Given the description of an element on the screen output the (x, y) to click on. 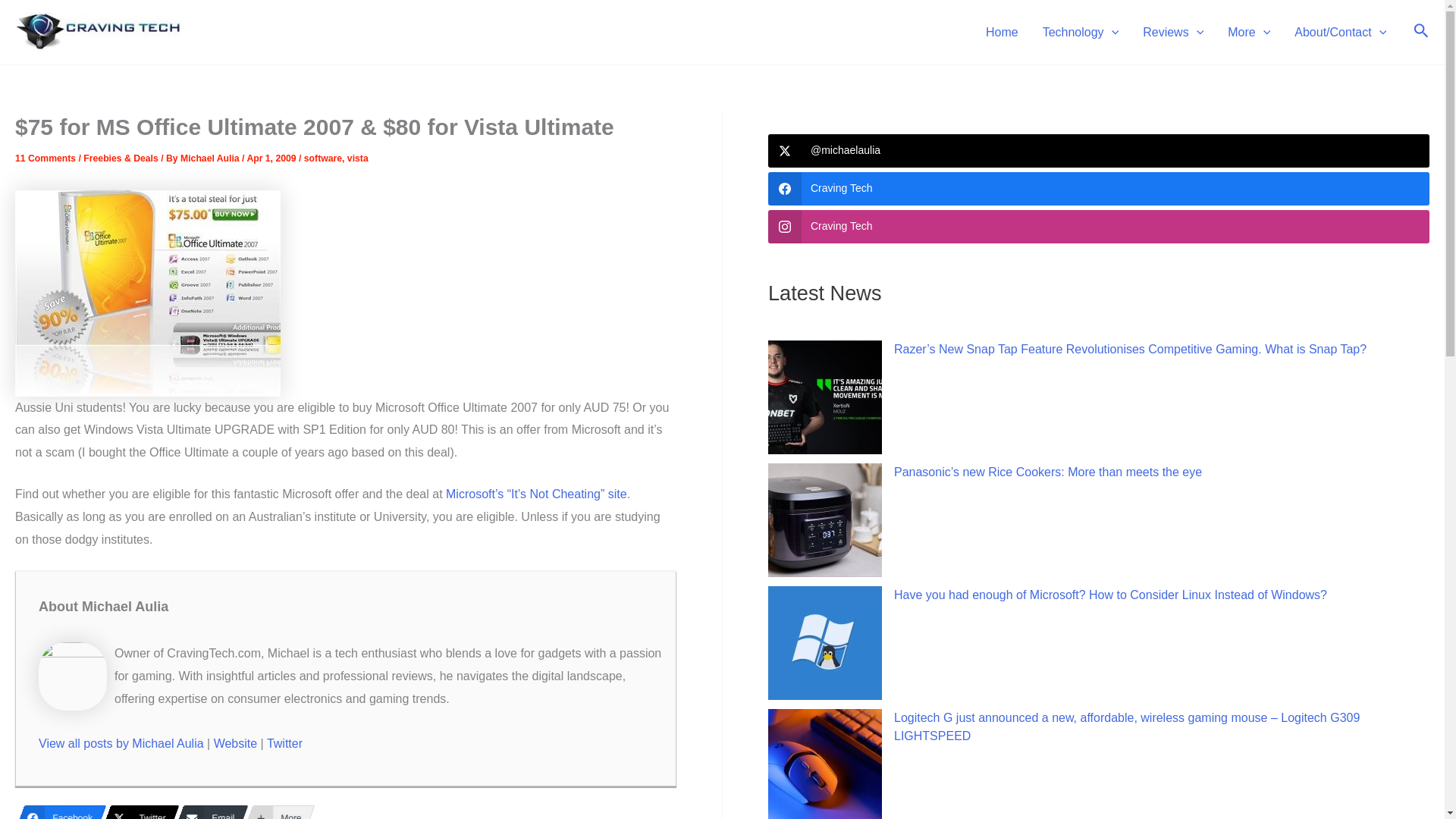
Technology (1080, 31)
Reviews (1173, 31)
Home (1002, 31)
View all posts by Michael Aulia (210, 158)
More (1248, 31)
cheap microsoft office for student (147, 293)
